Given the description of an element on the screen output the (x, y) to click on. 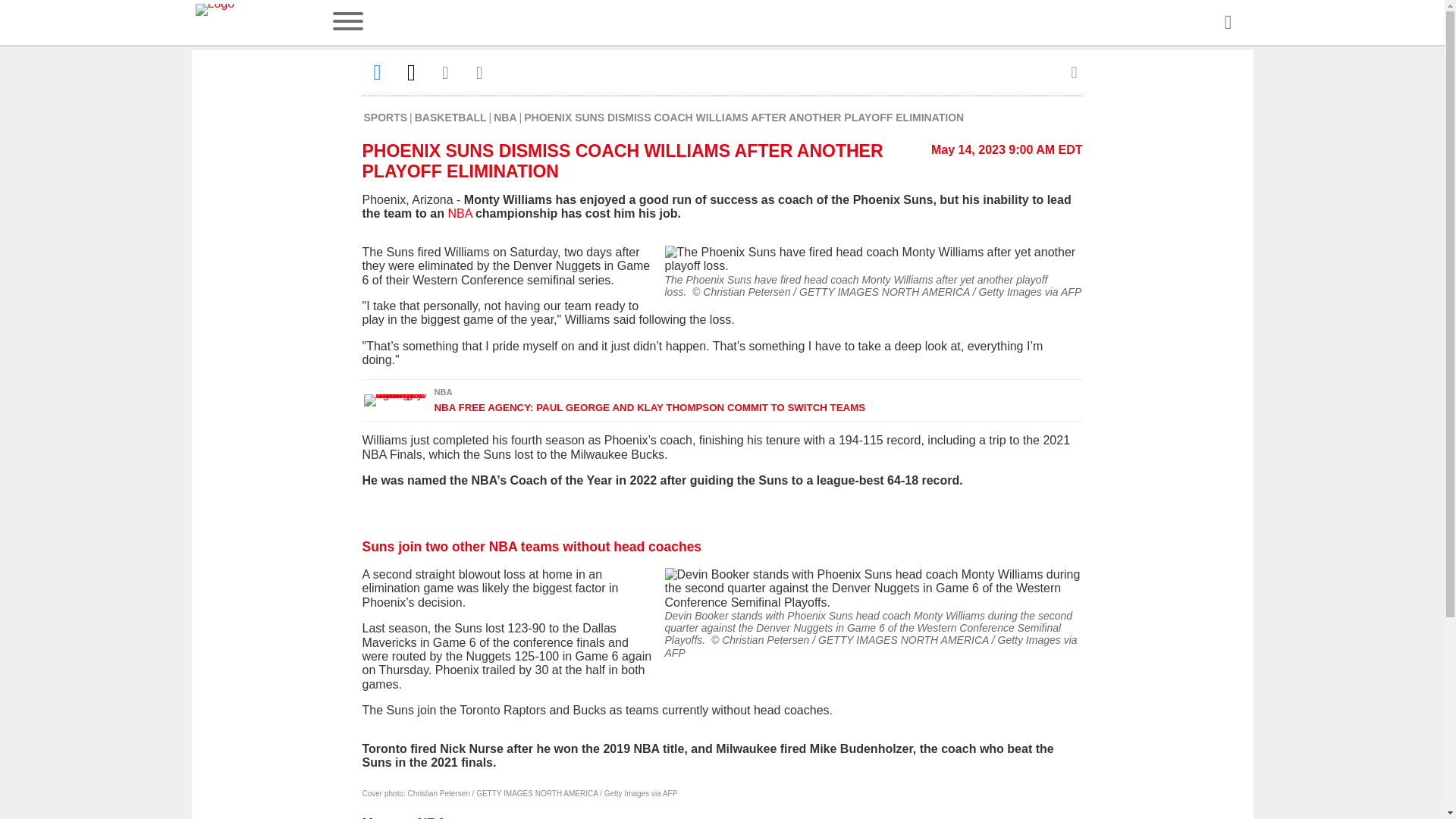
NBA (504, 117)
NBA (430, 817)
menu (347, 22)
Copy link (479, 72)
Share via mail (445, 72)
SPORTS (385, 117)
Open search (1227, 22)
Share on Twitter (411, 72)
Share on Facebook (377, 72)
